Given the description of an element on the screen output the (x, y) to click on. 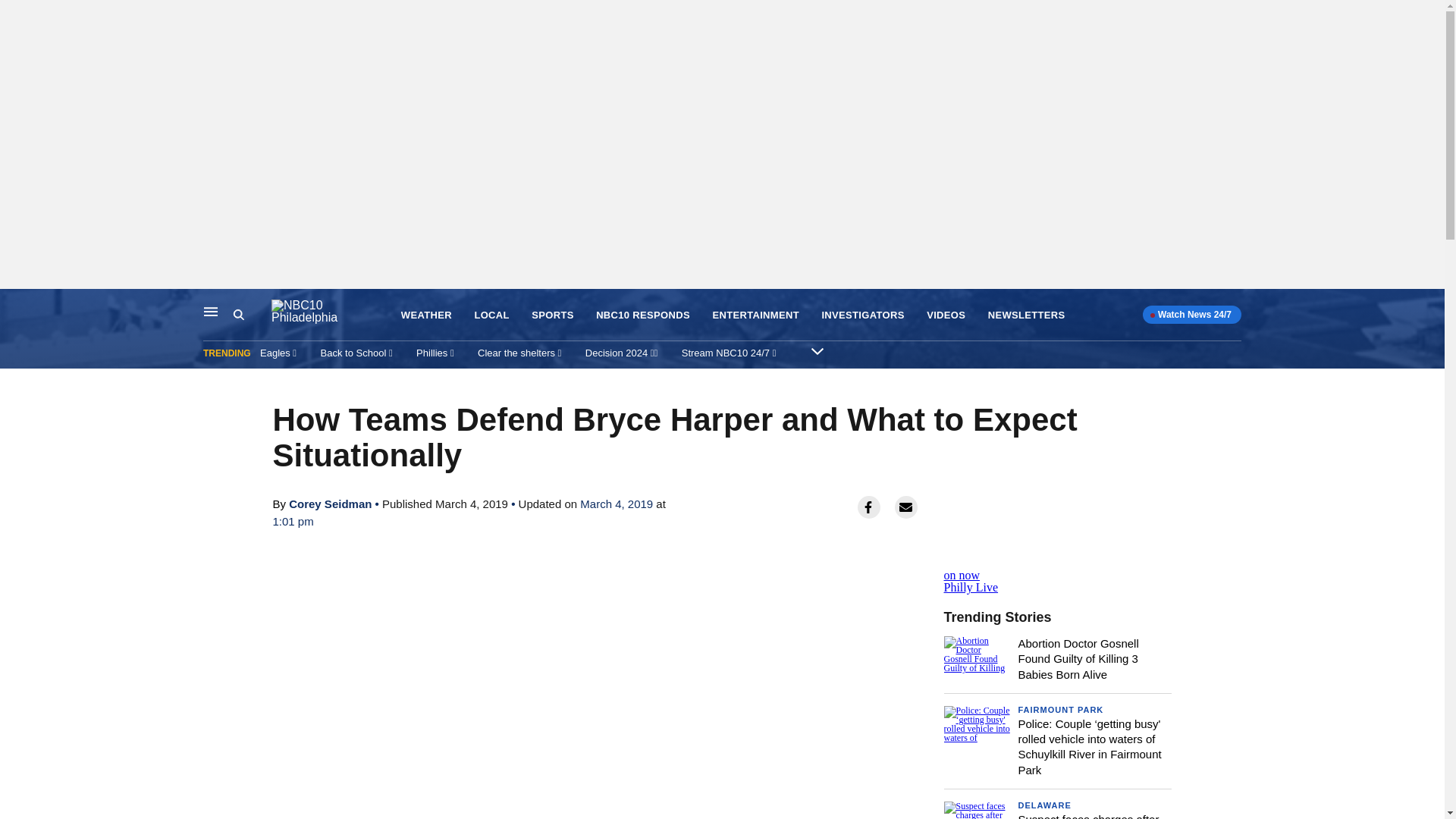
NEWSLETTERS (1026, 315)
SPORTS (552, 315)
Main Navigation (210, 311)
Skip to content (16, 304)
FAIRMOUNT PARK (1060, 709)
INVESTIGATORS (862, 315)
DELAWARE (1043, 804)
WEATHER (426, 315)
Corey Seidman (329, 503)
VIDEOS (945, 315)
